Given the description of an element on the screen output the (x, y) to click on. 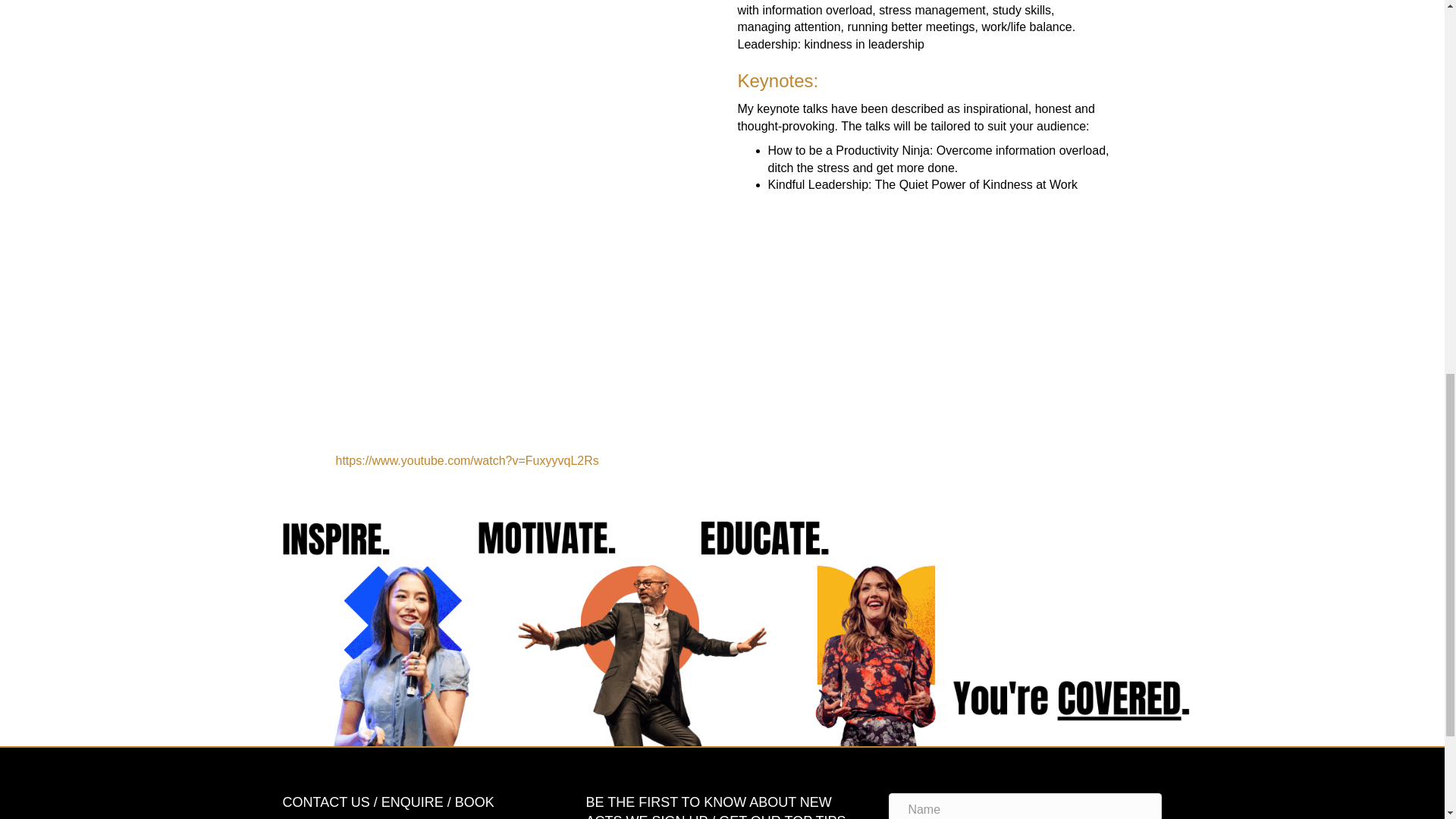
Graham Allcott - Talk for Google Team (922, 304)
